Given the description of an element on the screen output the (x, y) to click on. 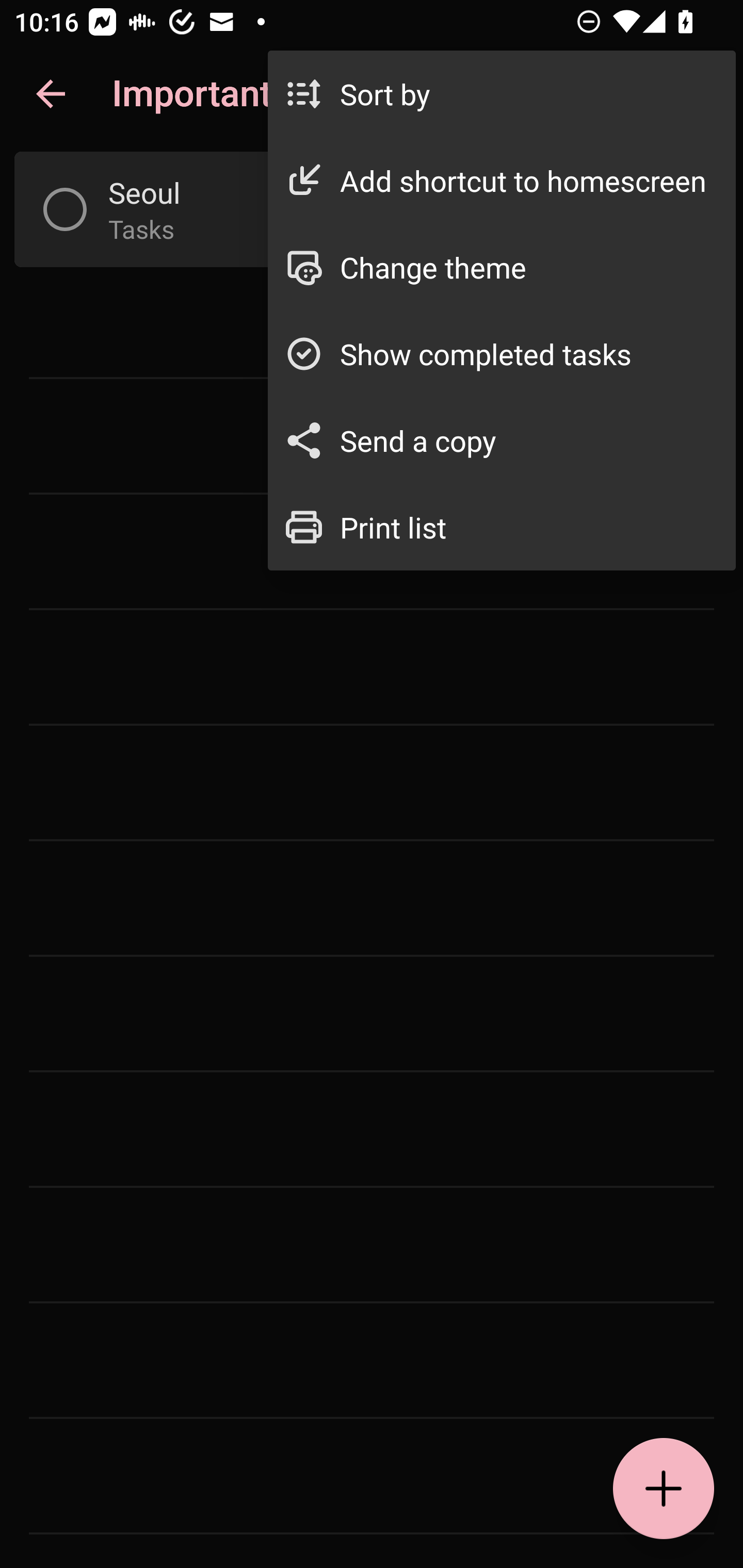
Sort by1 in 6 Sort by (501, 93)
Change theme3 in 6 Change theme (501, 267)
Show completed tasks4 in 6 Show completed tasks (501, 353)
Send a copy5 in 6 Send a copy (501, 440)
Print list6 in 6 Print list (501, 527)
